Given the description of an element on the screen output the (x, y) to click on. 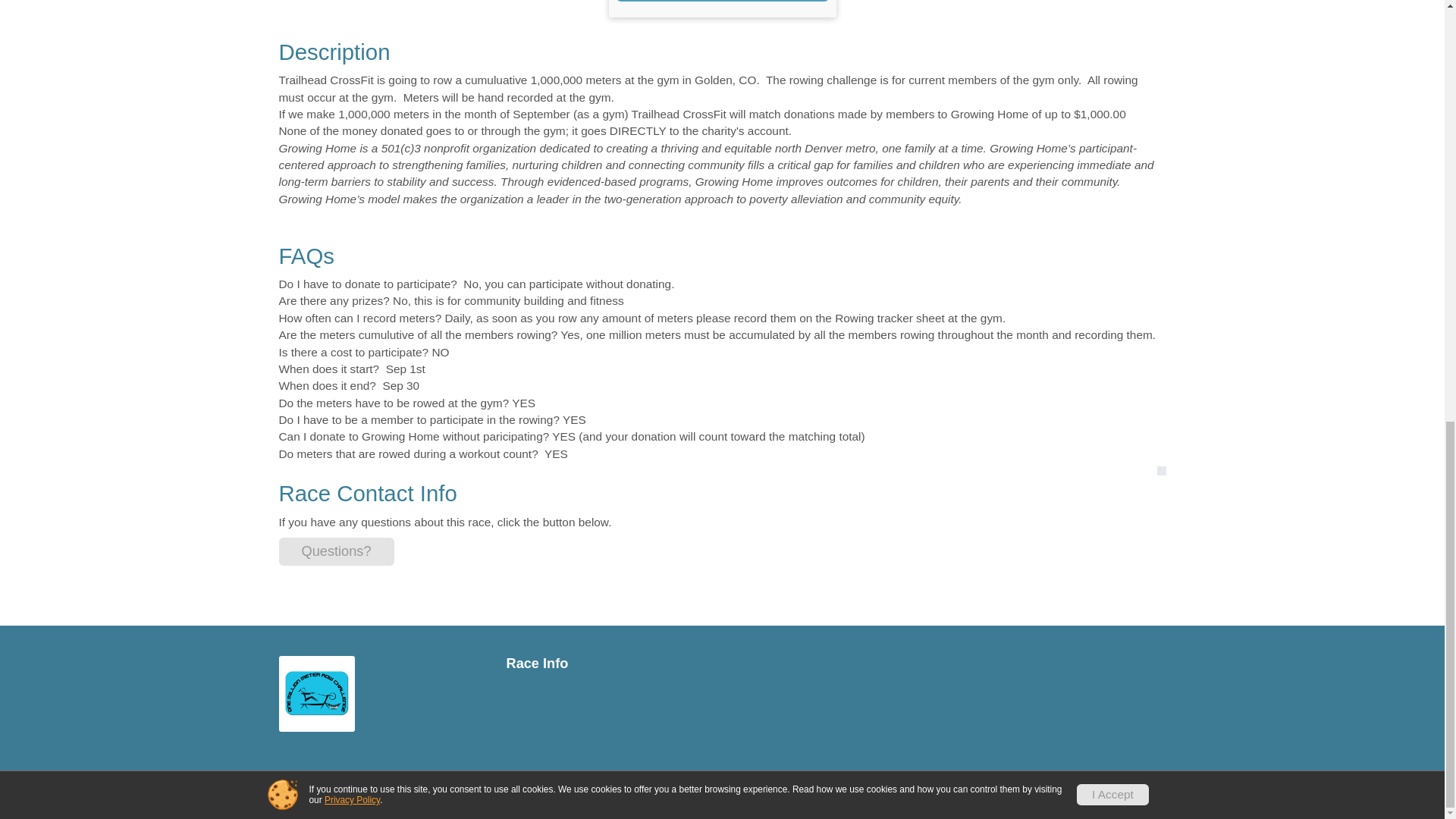
Race Info (608, 663)
Privacy Policy (1037, 791)
Contact This Race (1122, 791)
Questions? (336, 551)
